Given the description of an element on the screen output the (x, y) to click on. 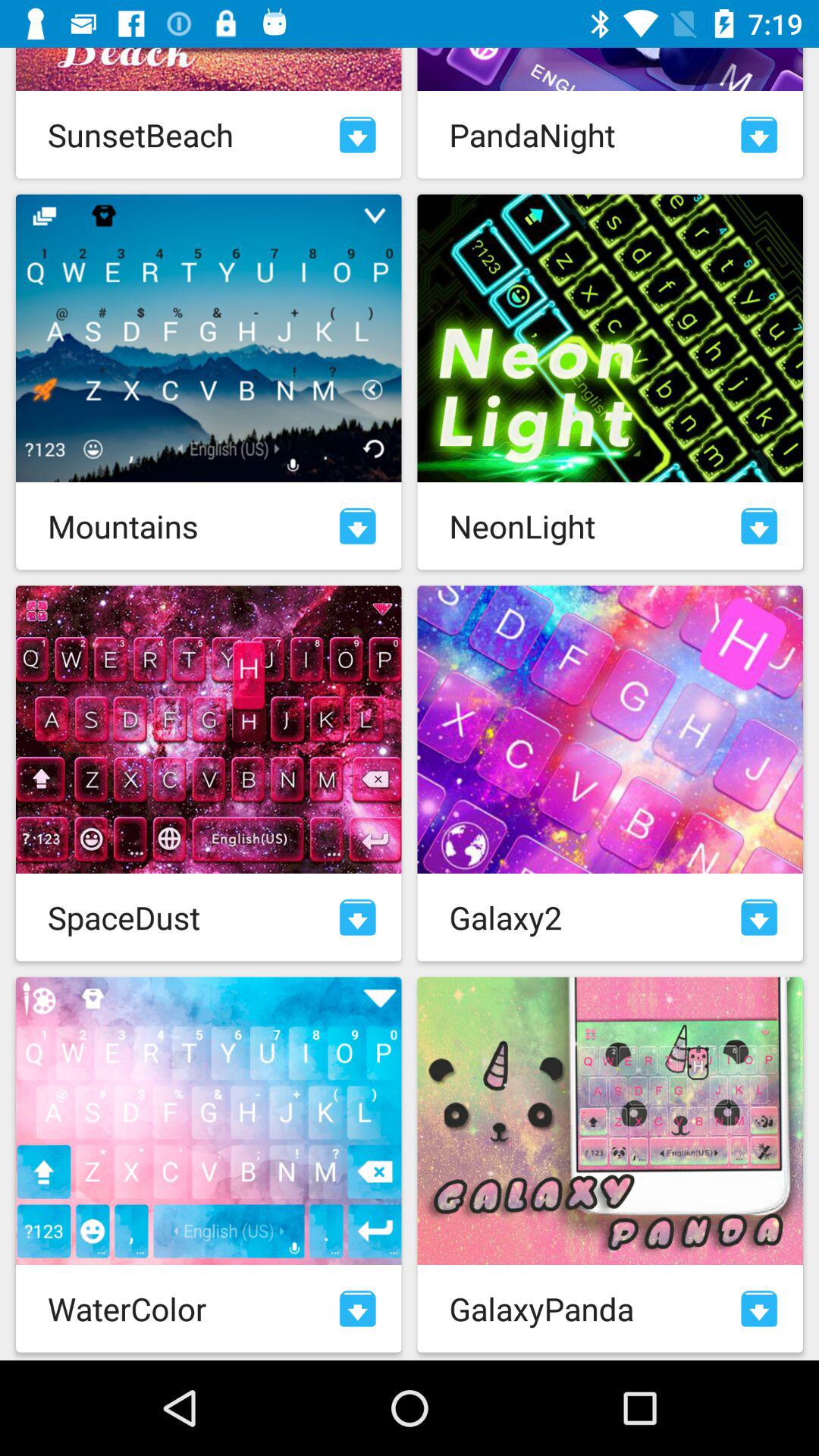
download skin (759, 525)
